Given the description of an element on the screen output the (x, y) to click on. 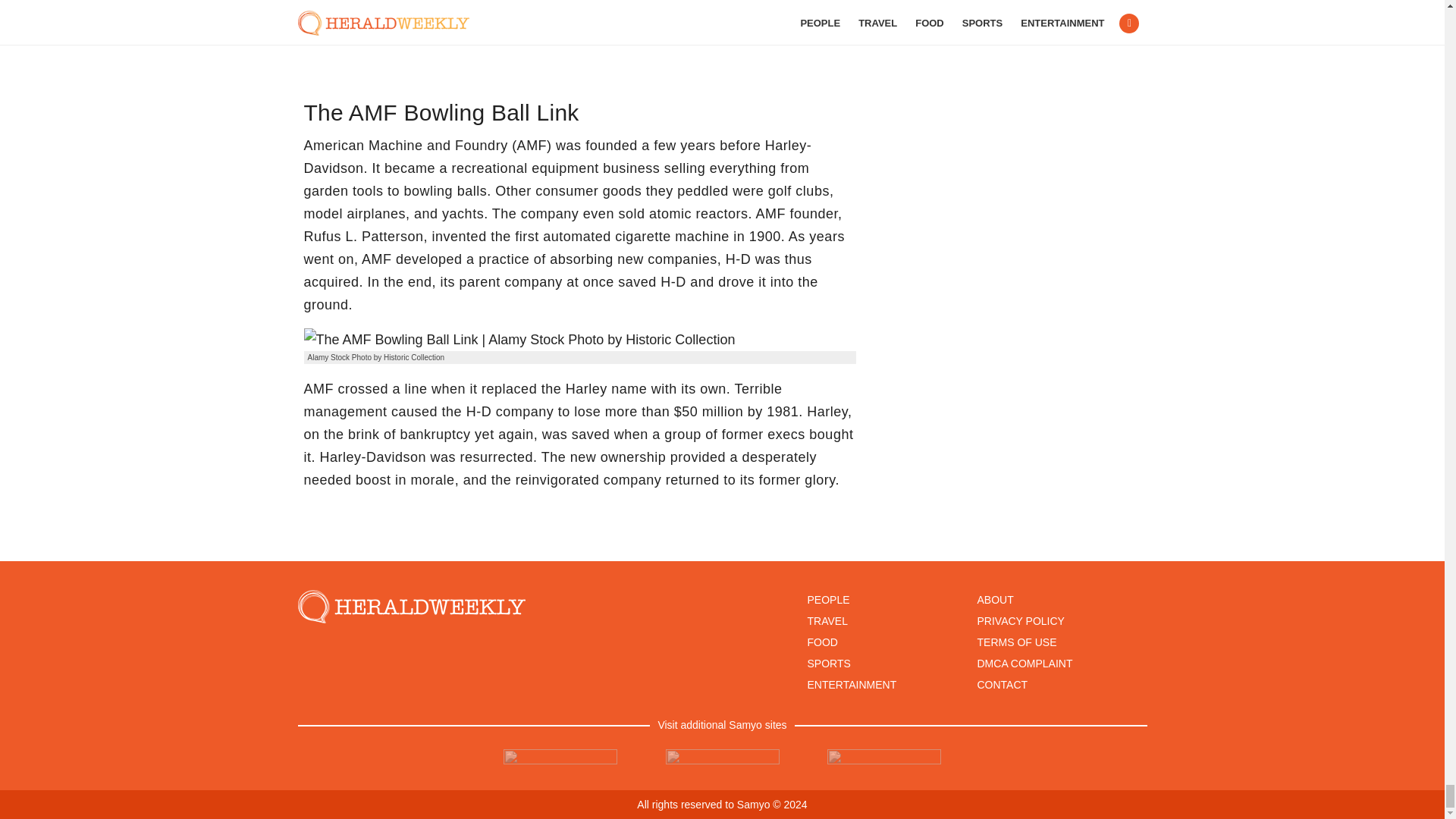
CONTACT (1001, 684)
TRAVEL (826, 621)
PRIVACY POLICY (1020, 621)
ENTERTAINMENT (851, 684)
SPORTS (828, 663)
TERMS OF USE (1016, 642)
FOOD (821, 642)
DMCA COMPLAINT (1023, 663)
PEOPLE (827, 599)
ABOUT (994, 599)
